Given the description of an element on the screen output the (x, y) to click on. 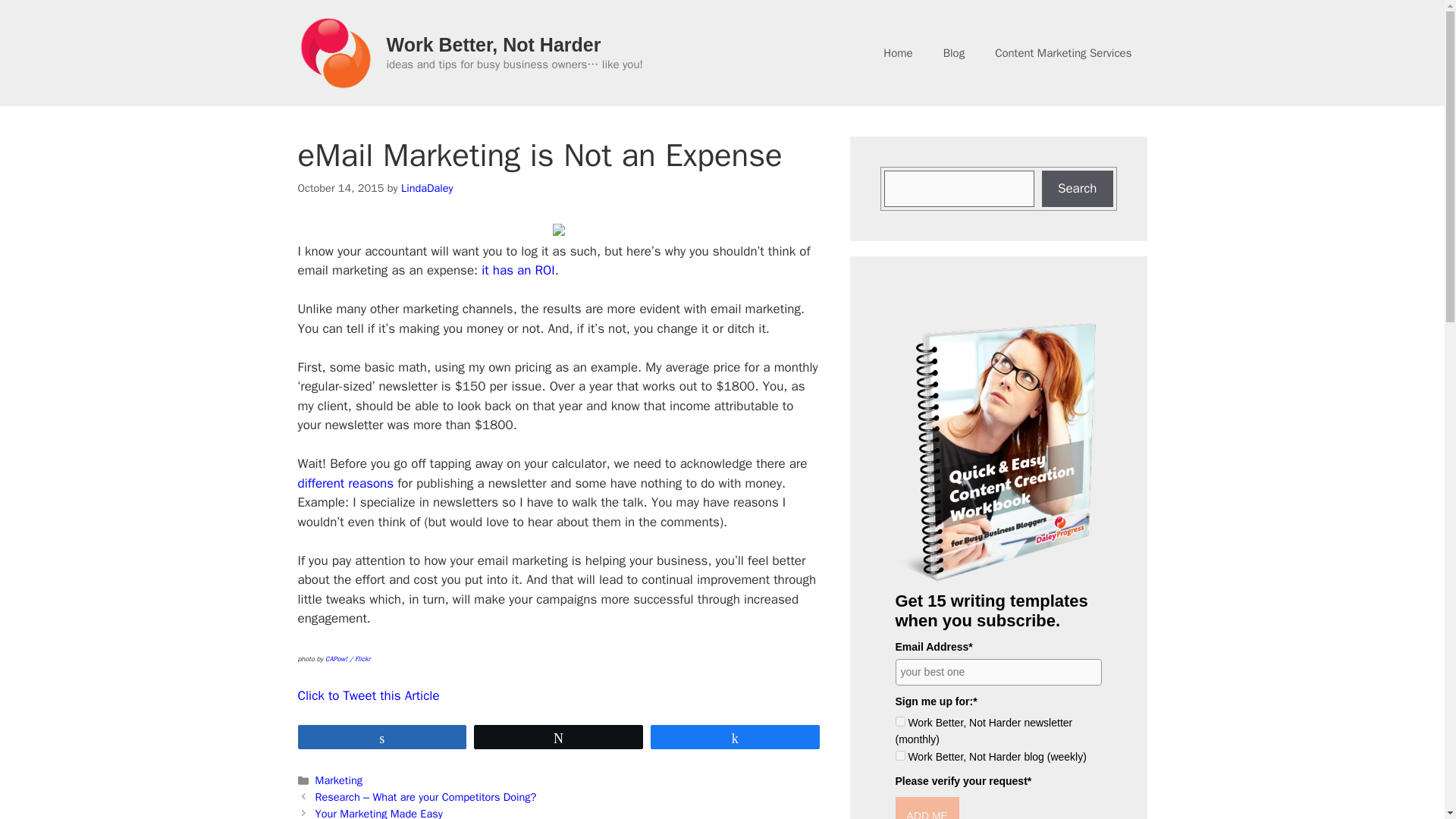
Click to Tweet this Article (368, 695)
Work Better, Not Harder (494, 44)
Marketing (338, 780)
View all posts by LindaDaley (426, 187)
Content Marketing Services (1063, 53)
it has an ROI (517, 270)
ADD ME (926, 807)
Home (897, 53)
Blog (953, 53)
LindaDaley (426, 187)
2 (899, 755)
1 (899, 721)
Your Marketing Made Easy (378, 812)
Search (1077, 188)
different reasons (345, 483)
